Given the description of an element on the screen output the (x, y) to click on. 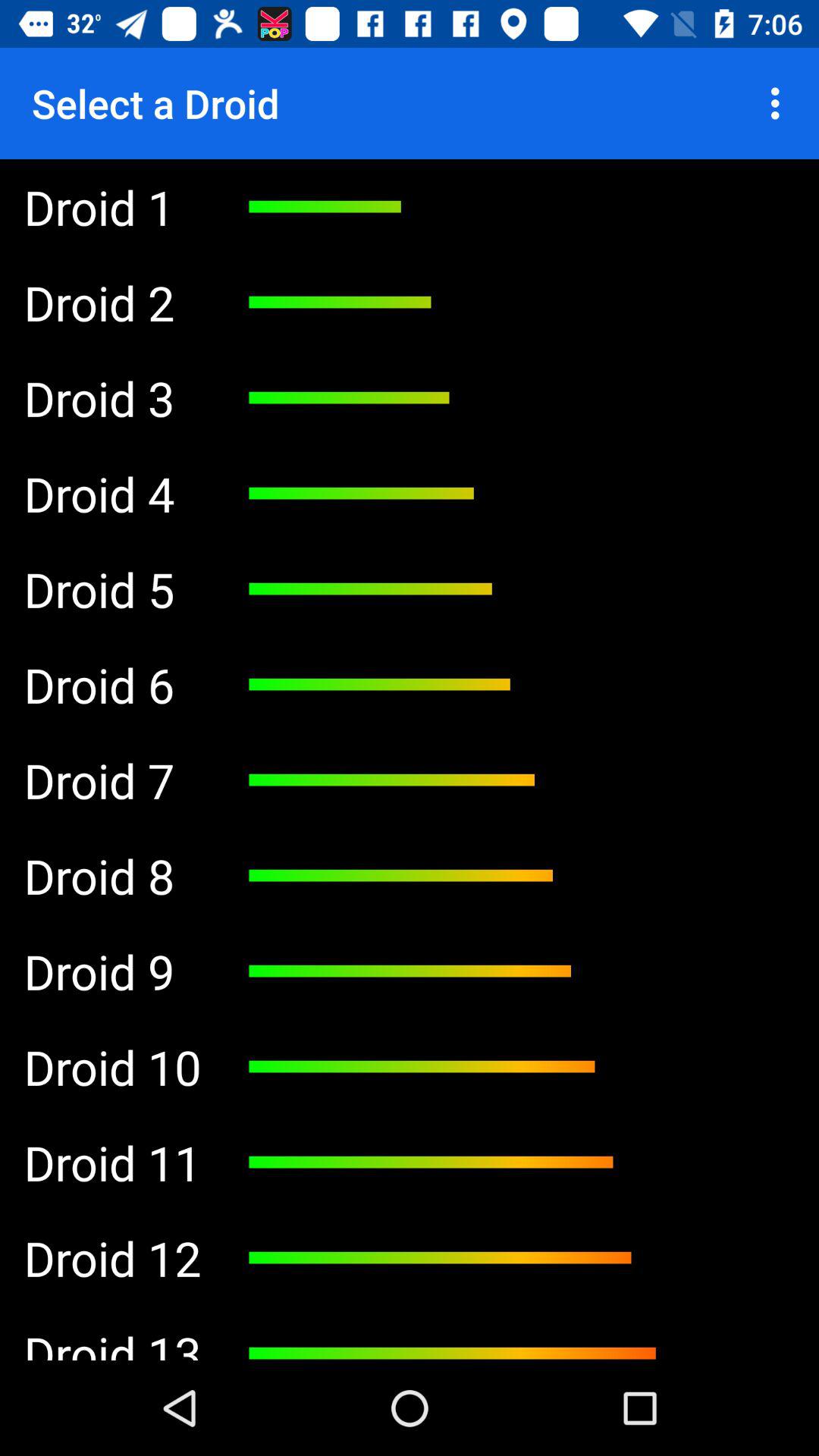
flip to droid 12 item (112, 1257)
